Given the description of an element on the screen output the (x, y) to click on. 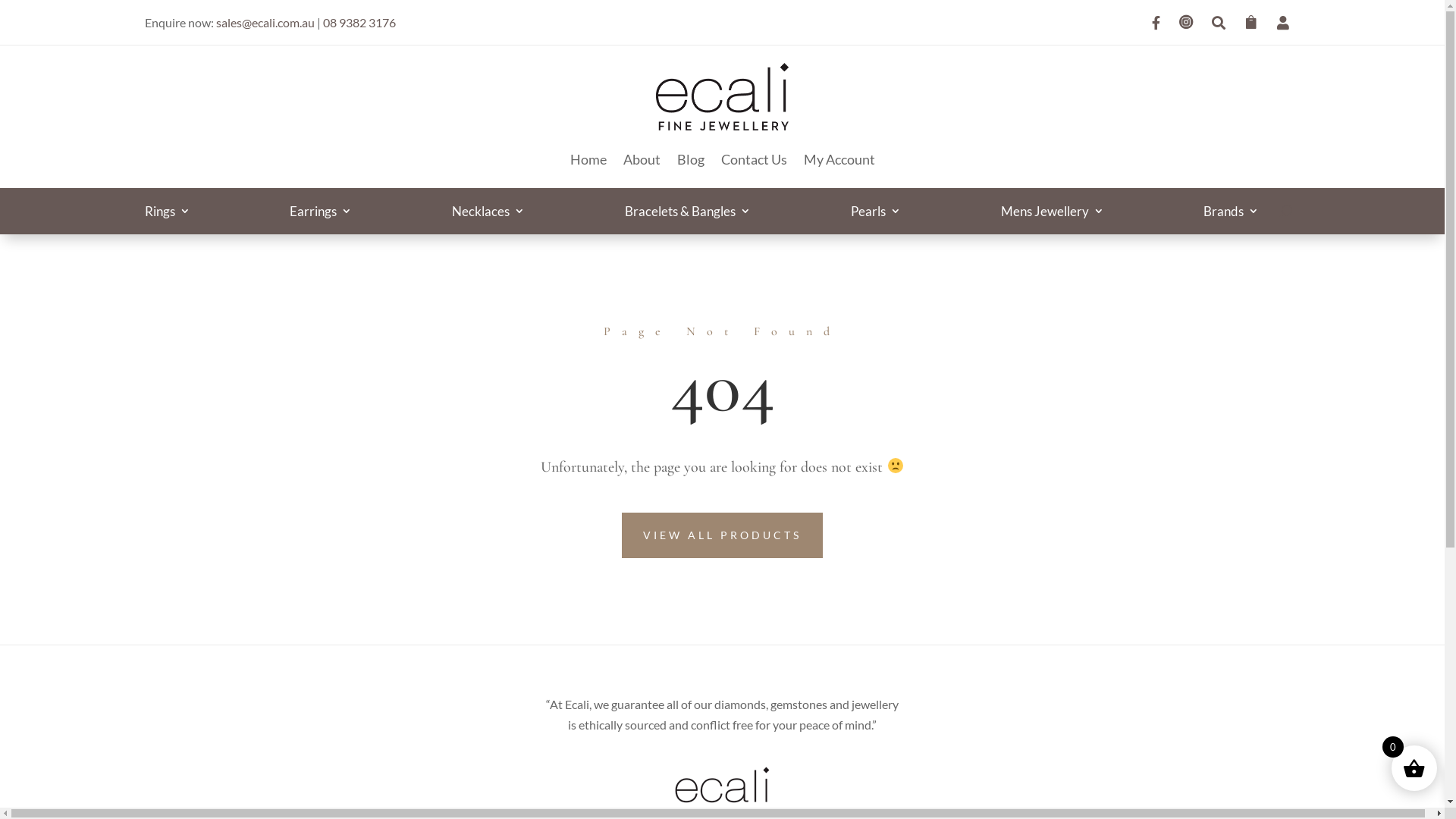
08 9382 3176 Element type: text (359, 22)
Rings Element type: text (166, 214)
About Element type: text (641, 159)
Brands Element type: text (1230, 214)
Bracelets & Bangles Element type: text (687, 214)
Necklaces Element type: text (487, 214)
Mens Jewellery Element type: text (1052, 214)
My Account Element type: text (839, 159)
sales@ecali.com.au Element type: text (264, 22)
VIEW ALL PRODUCTS Element type: text (721, 535)
logo-footer Element type: hover (721, 790)
Home Element type: text (588, 159)
Blog Element type: text (689, 159)
Contact Us Element type: text (753, 159)
Pearls Element type: text (875, 214)
Earrings Element type: text (320, 214)
